Given the description of an element on the screen output the (x, y) to click on. 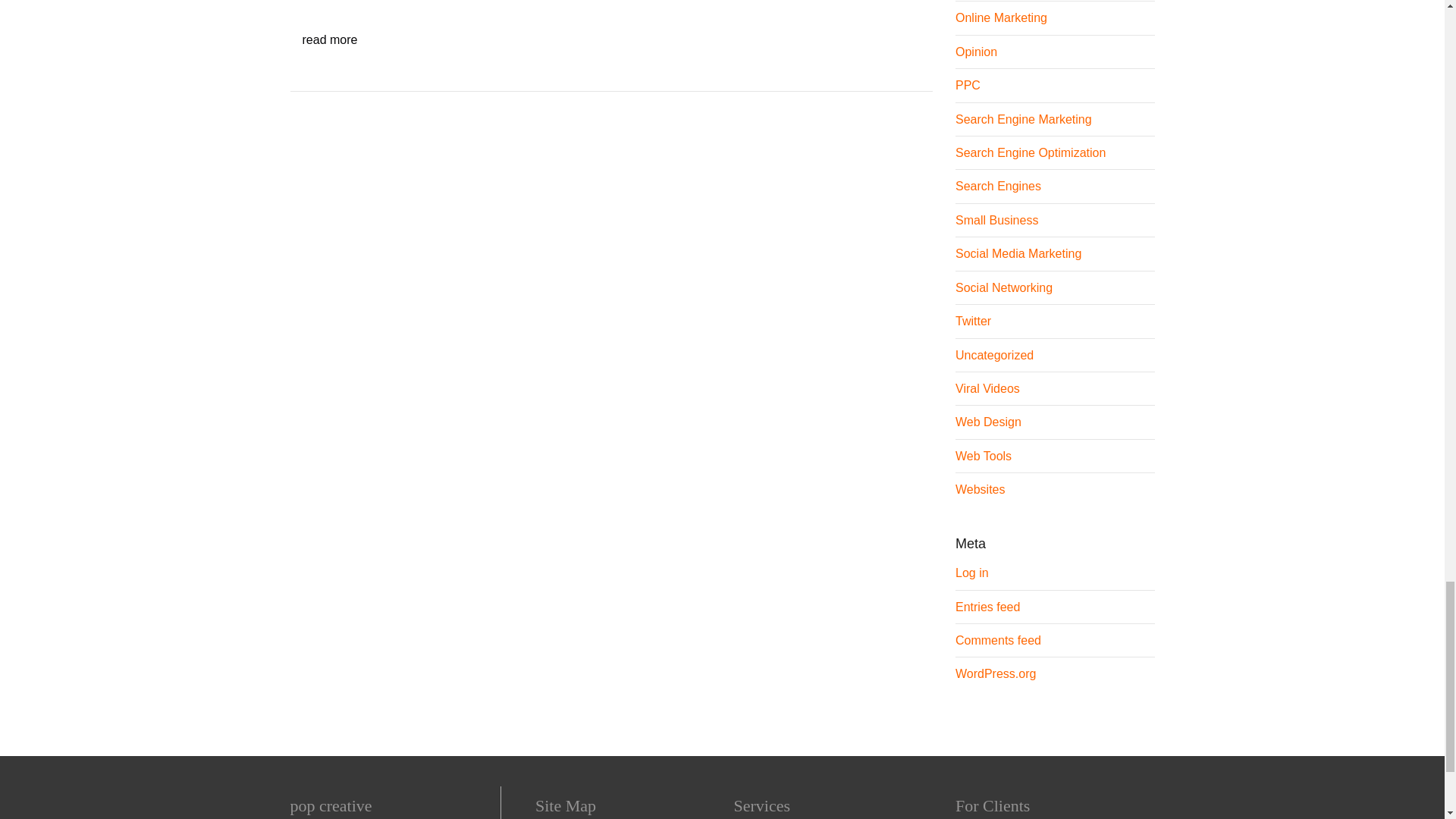
read more (329, 39)
